Given the description of an element on the screen output the (x, y) to click on. 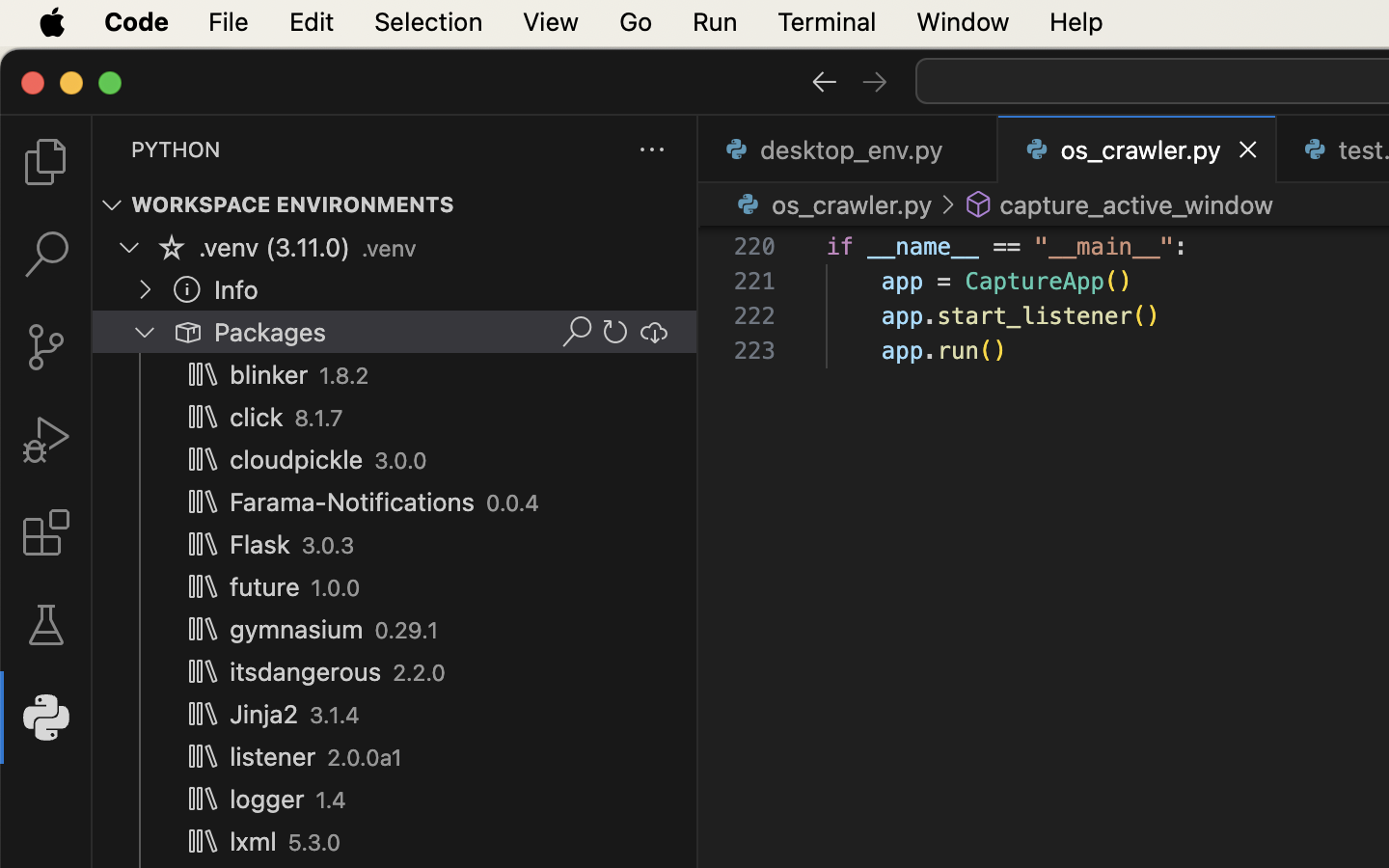
PYTHON Element type: AXStaticText (176, 149)
 Element type: AXButton (824, 80)
1 Element type: AXRadioButton (46, 717)
